Given the description of an element on the screen output the (x, y) to click on. 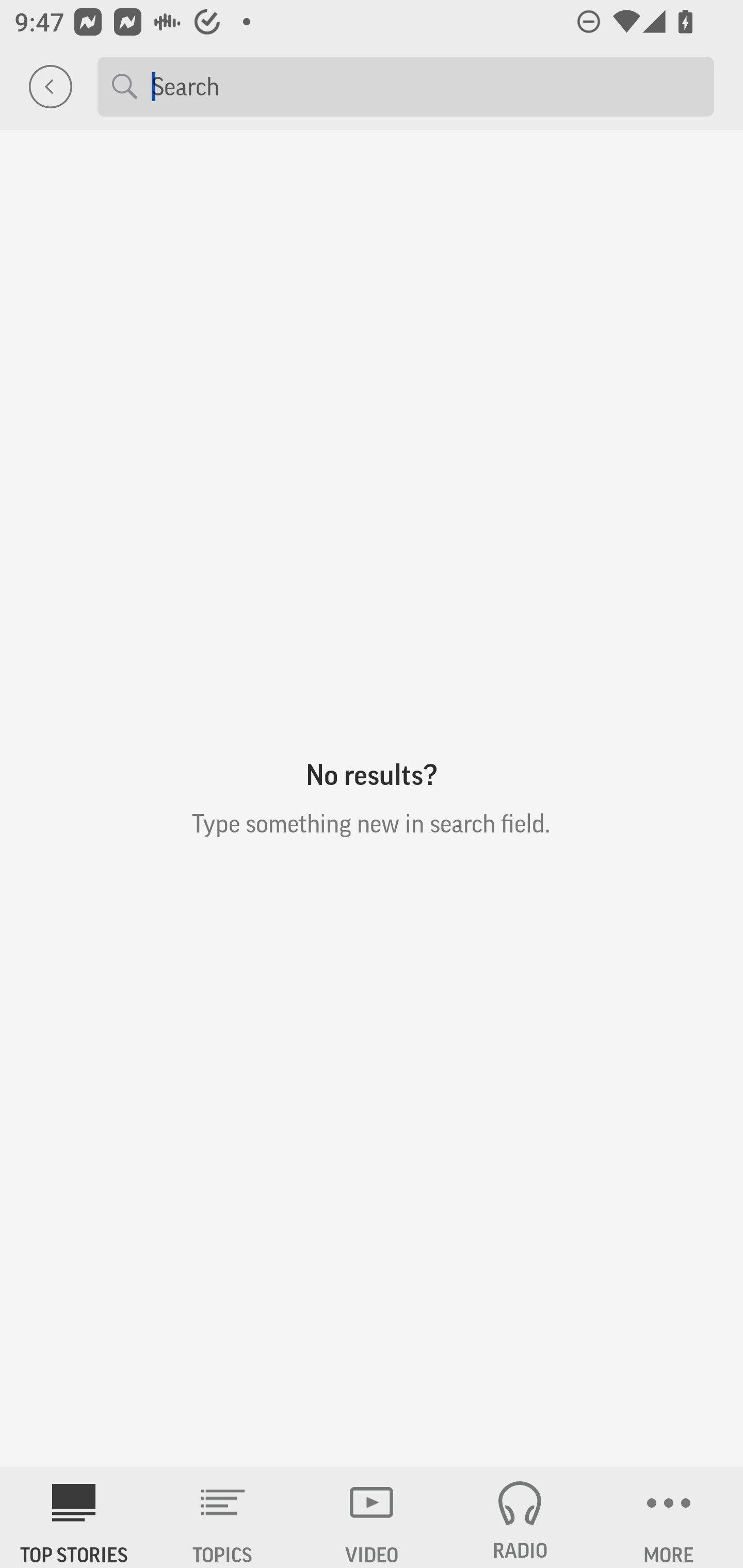
Search (425, 86)
AP News TOP STORIES (74, 1517)
TOPICS (222, 1517)
VIDEO (371, 1517)
RADIO (519, 1517)
MORE (668, 1517)
